Given the description of an element on the screen output the (x, y) to click on. 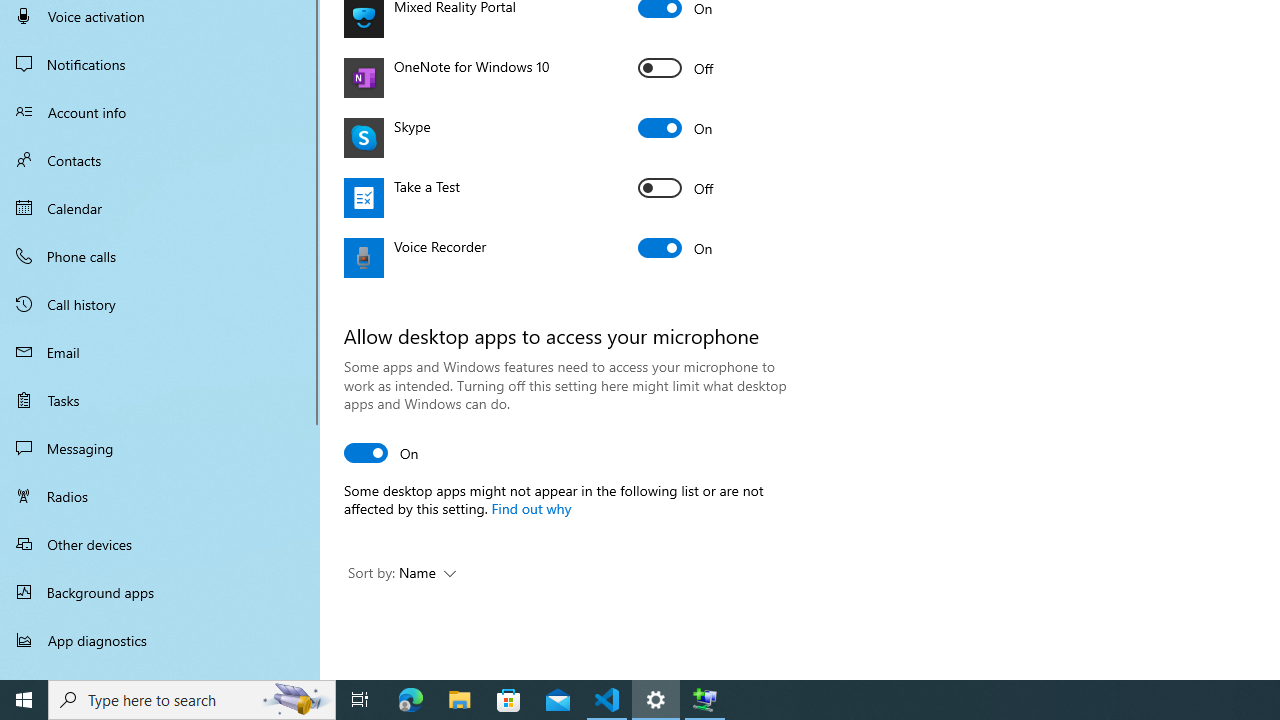
Account info (160, 111)
Calendar (160, 207)
Voice Recorder (675, 247)
Sort by: Name (401, 573)
Background apps (160, 592)
Tasks (160, 399)
Automatic file downloads (160, 671)
Radios (160, 495)
OneNote for Windows 10 (675, 67)
Find out why (530, 507)
Contacts (160, 160)
Call history (160, 304)
